Given the description of an element on the screen output the (x, y) to click on. 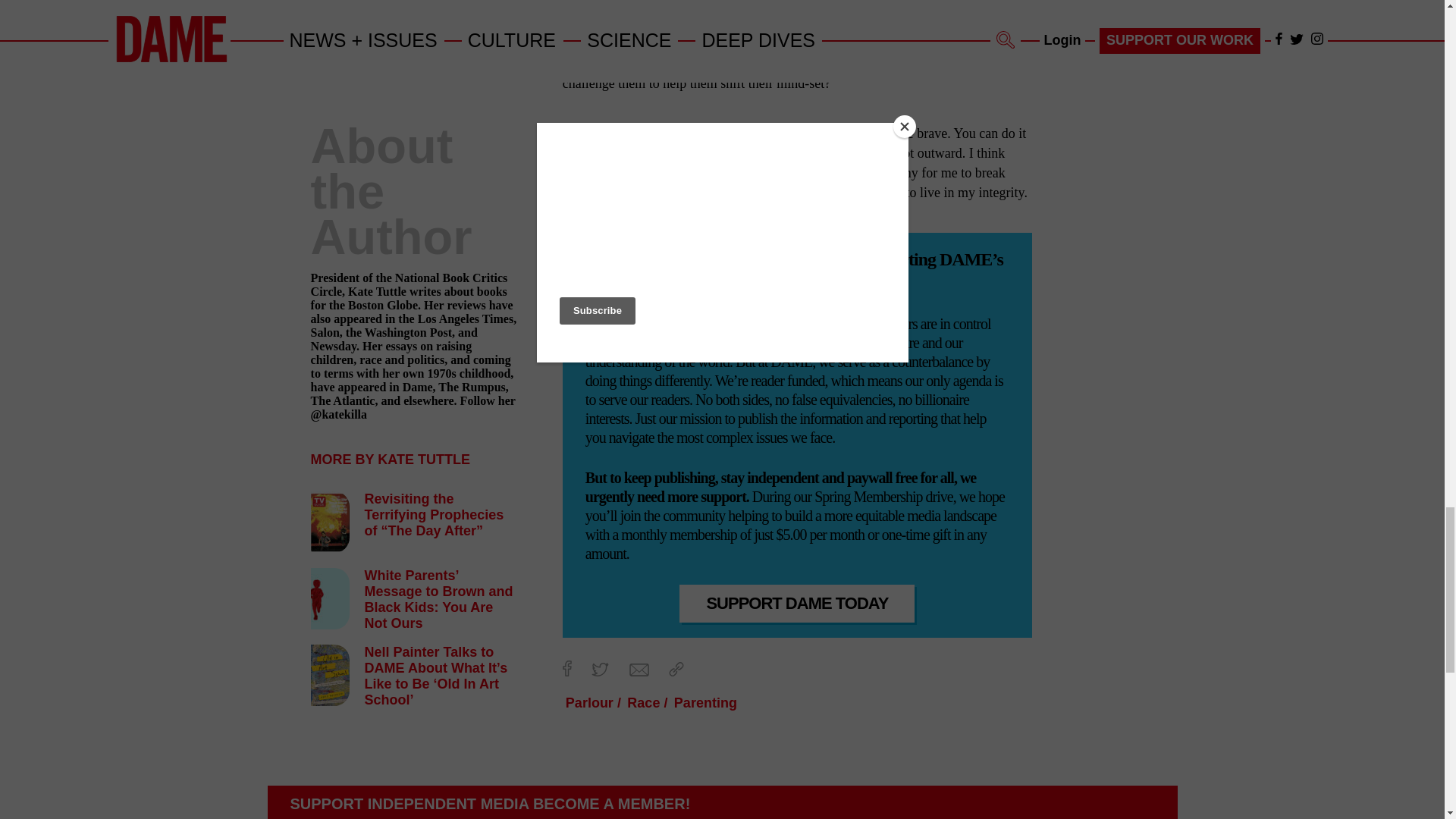
Twitter (599, 669)
Email (638, 669)
Share (676, 668)
